Given the description of an element on the screen output the (x, y) to click on. 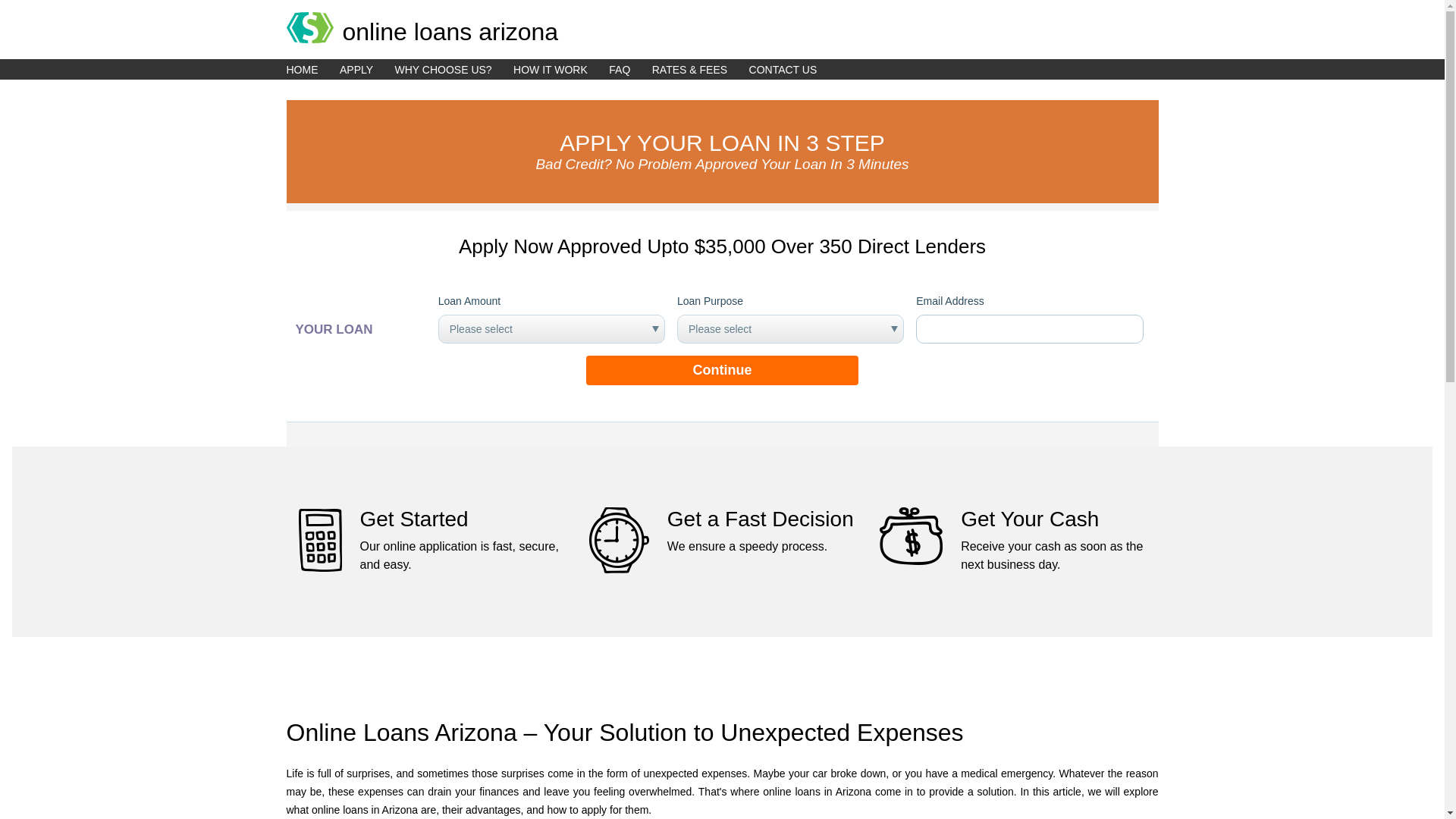
HOW IT WORK (559, 69)
Continue (722, 369)
FAQ (627, 69)
WHY CHOOSE US? (452, 69)
HOME (311, 69)
APPLY (365, 69)
online loans arizona (722, 22)
CONTACT US (792, 69)
